Given the description of an element on the screen output the (x, y) to click on. 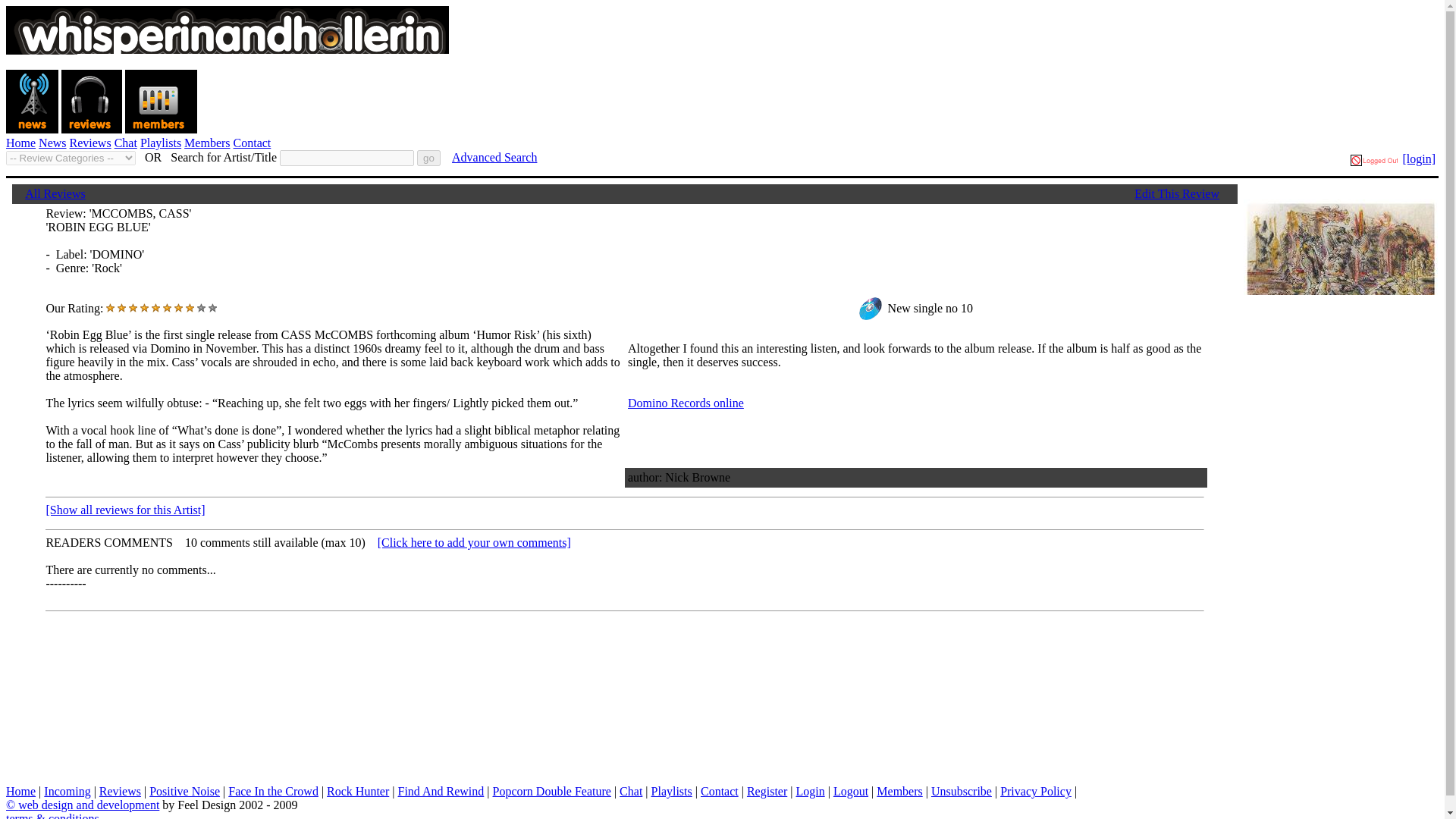
go (428, 157)
Domino Records online (685, 402)
Playlists (159, 142)
Privacy Policy (1035, 790)
Popcorn Double Feature (552, 790)
Contact (251, 142)
Face In the Crowd (273, 790)
Contact (719, 790)
Unsubscribe (961, 790)
Login (809, 790)
